Given the description of an element on the screen output the (x, y) to click on. 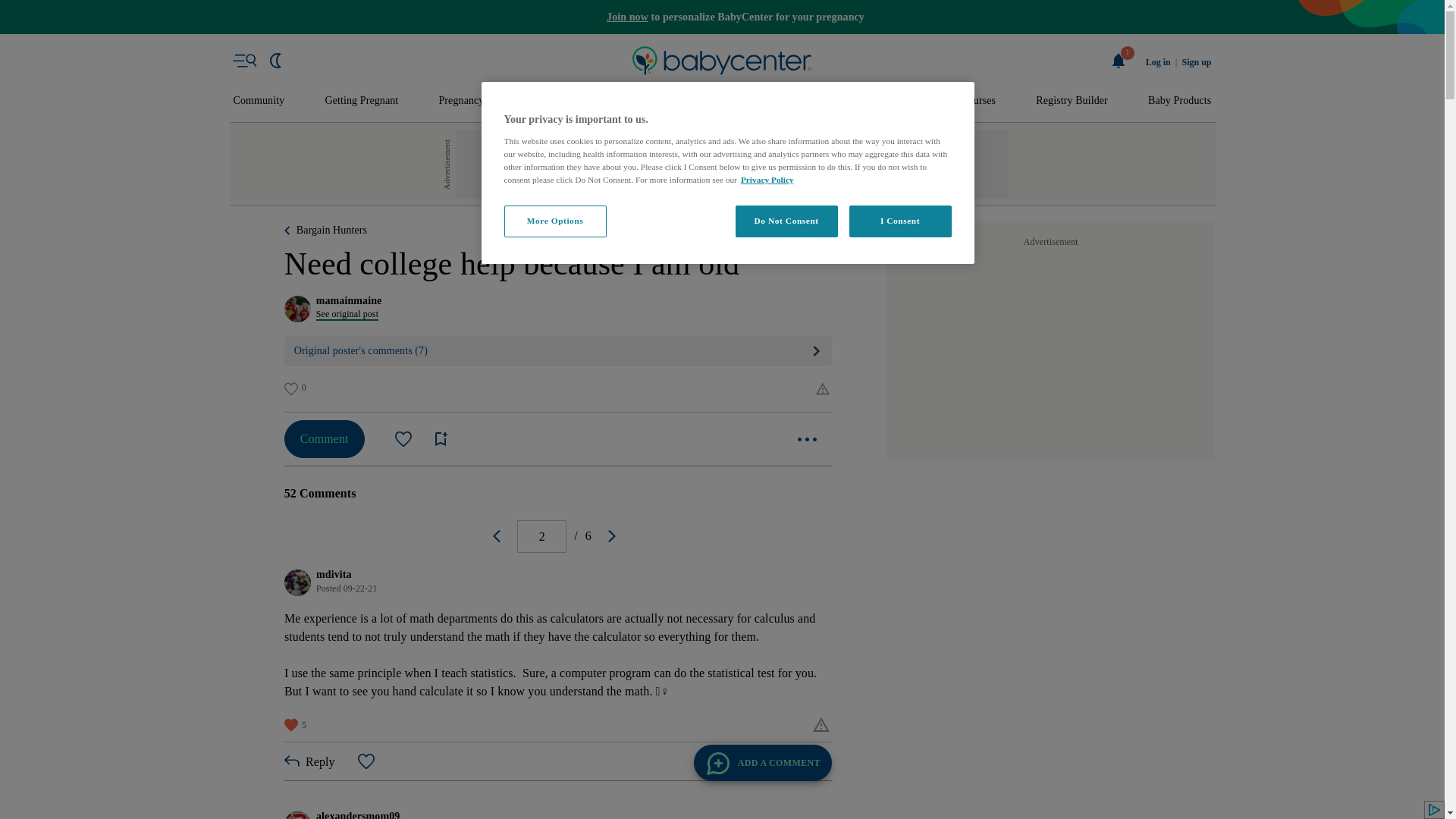
Go to page number (541, 536)
Pregnancy (460, 101)
Child (768, 101)
Log in (1157, 61)
Toddler (699, 101)
Sign up (1195, 61)
Baby (631, 101)
2 (541, 536)
Getting Pregnant (360, 101)
Courses (977, 101)
Health (835, 101)
Baby Products (1179, 101)
Registry Builder (1071, 101)
Community (258, 101)
Family (904, 101)
